Given the description of an element on the screen output the (x, y) to click on. 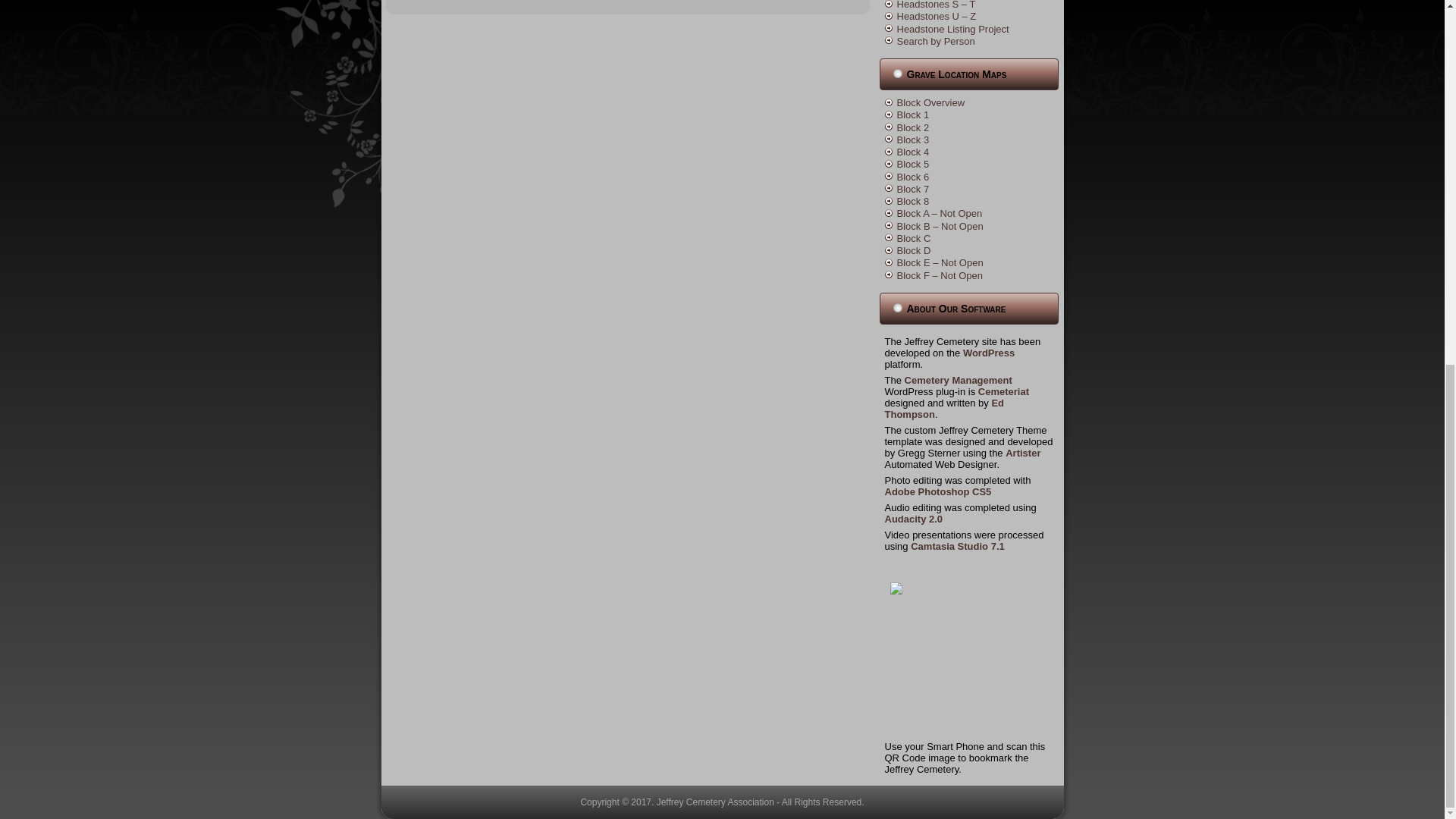
Block 7 (912, 188)
Block 5 (912, 163)
Block Overview (929, 102)
Block 2 (912, 127)
Block 4 (912, 152)
Block 6 (912, 175)
Search by Person (935, 41)
Block 1 (912, 114)
Headstone Listing Project (952, 29)
Block 3 (912, 139)
